Given the description of an element on the screen output the (x, y) to click on. 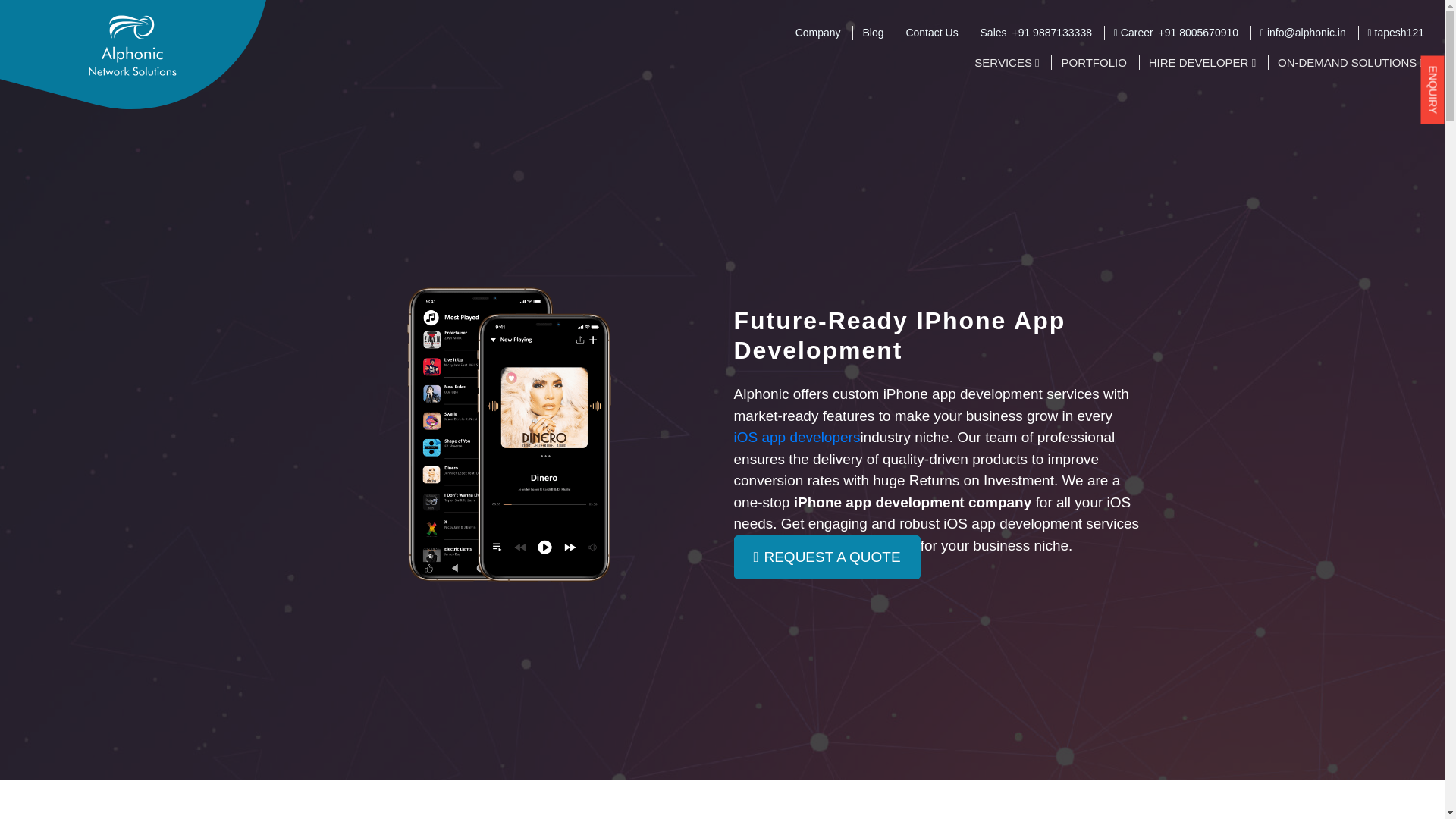
Company (817, 32)
SERVICES (1006, 61)
PORTFOLIO (1093, 61)
tapesh121 (1395, 32)
HIRE DEVELOPER (1201, 61)
Contact Us (931, 32)
Blog (872, 32)
